Given the description of an element on the screen output the (x, y) to click on. 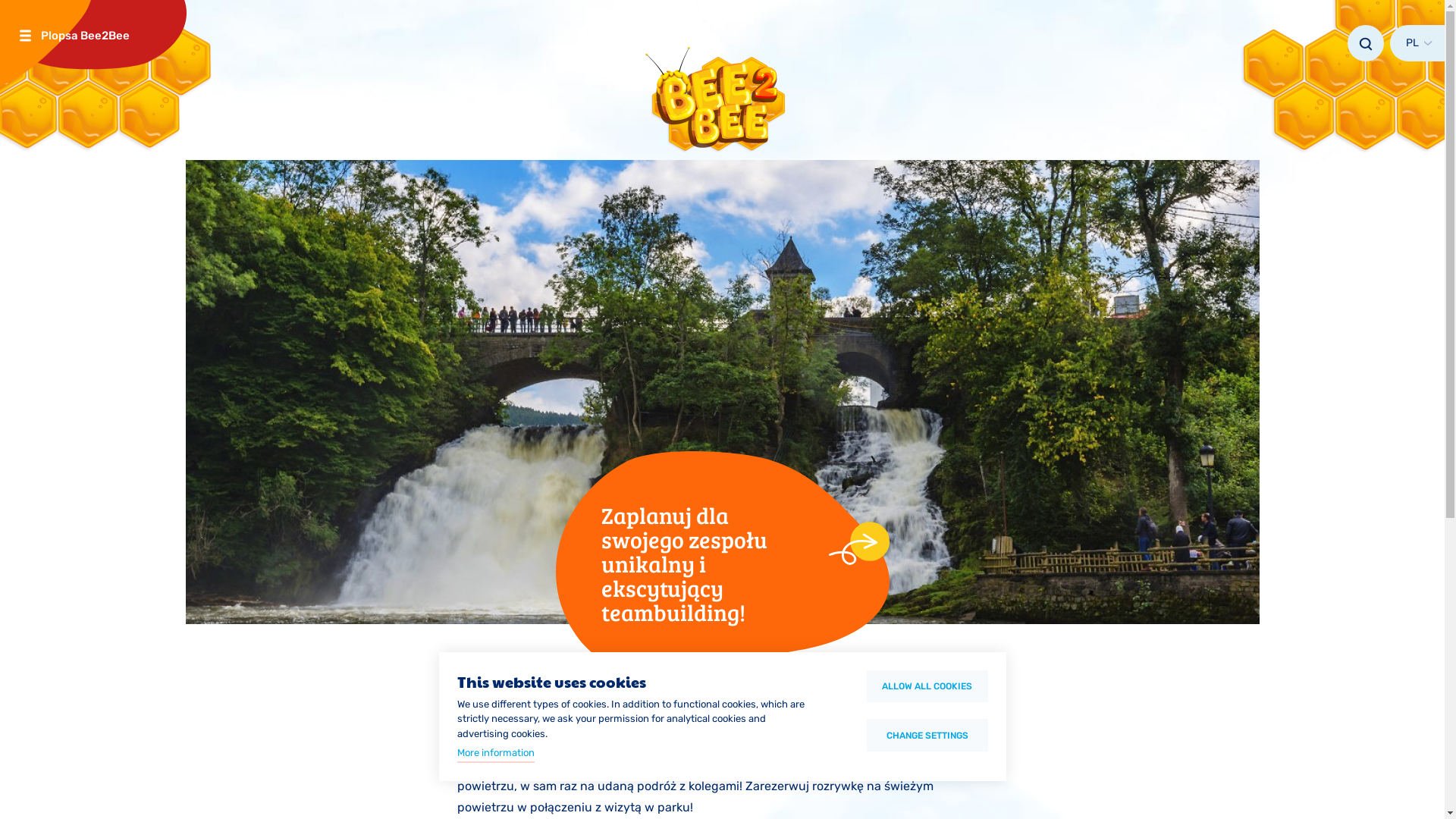
POLISH Element type: text (1417, 44)
CHANGE SETTINGS Element type: text (927, 734)
Search Element type: text (1365, 43)
ALLOW ALL COOKIES Element type: text (927, 686)
More information Element type: text (494, 753)
